Given the description of an element on the screen output the (x, y) to click on. 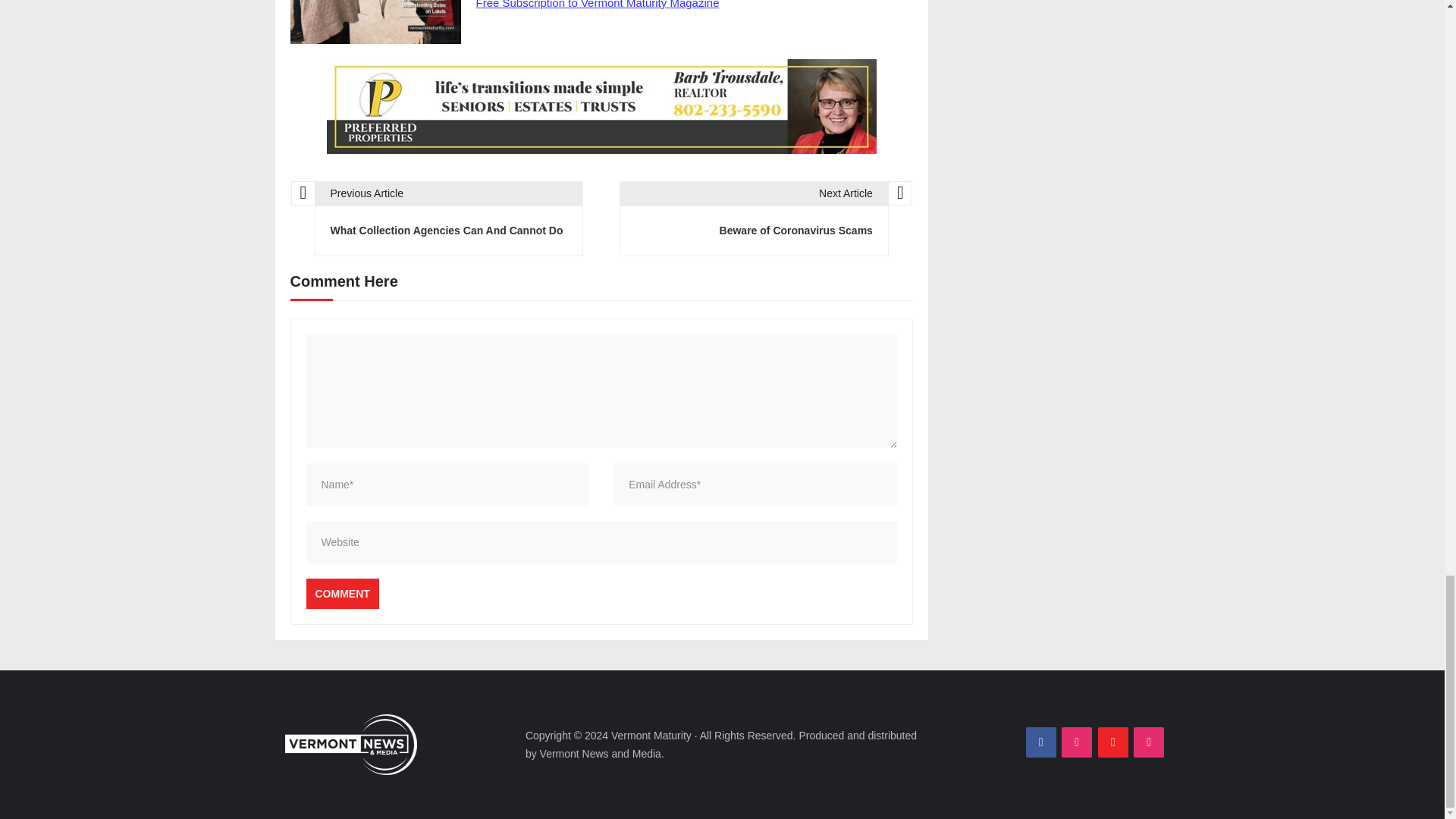
Comment (341, 593)
